Given the description of an element on the screen output the (x, y) to click on. 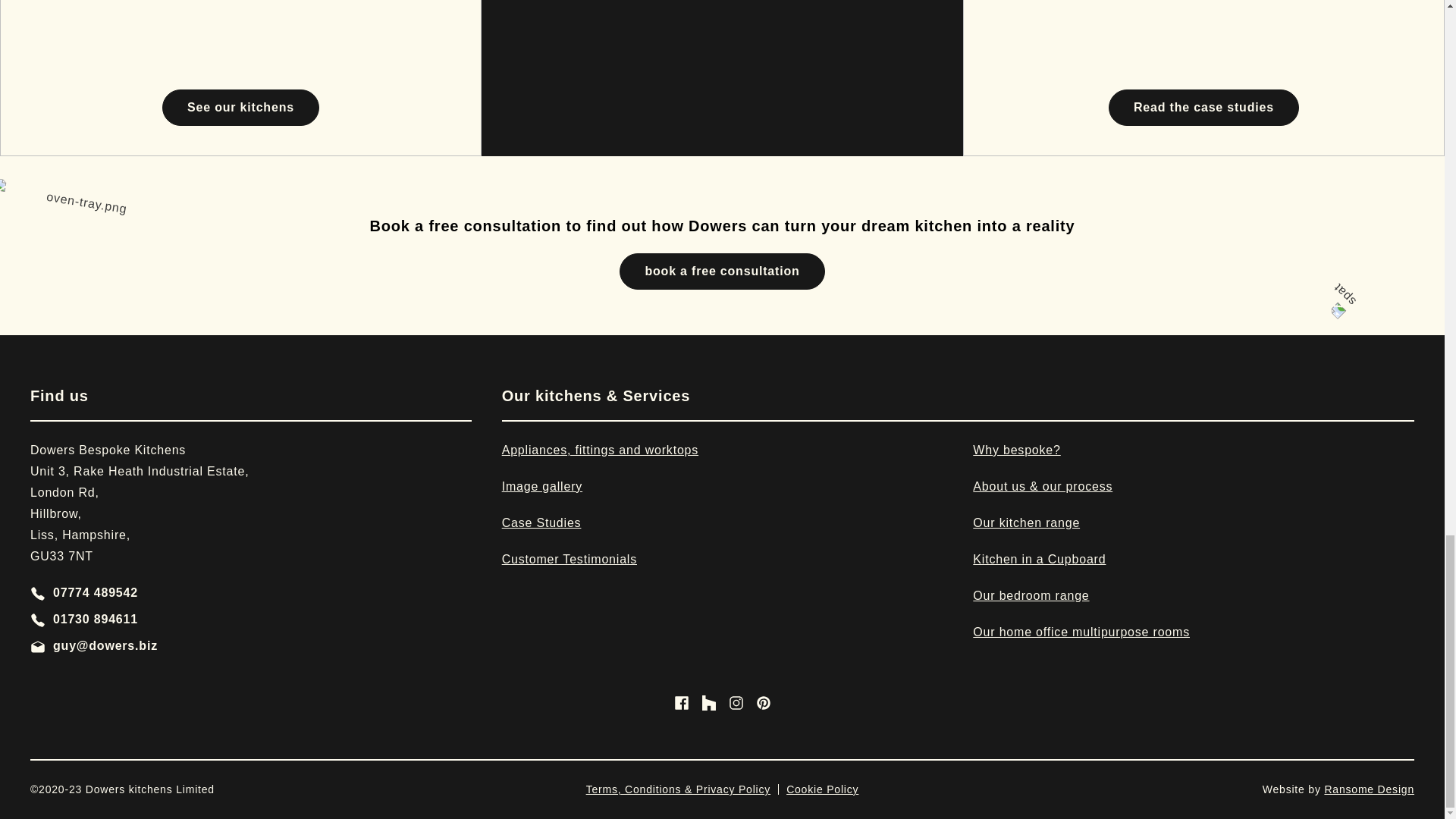
Case Studies (541, 522)
ionicons-v5-g (250, 592)
Logo Instagram (37, 593)
Web design Hampshire by Ransome Design (735, 702)
ionicons-v5-o (1368, 788)
Our kitchen range (37, 646)
Customer Testimonials (250, 619)
Logo Facebook (1026, 522)
